Given the description of an element on the screen output the (x, y) to click on. 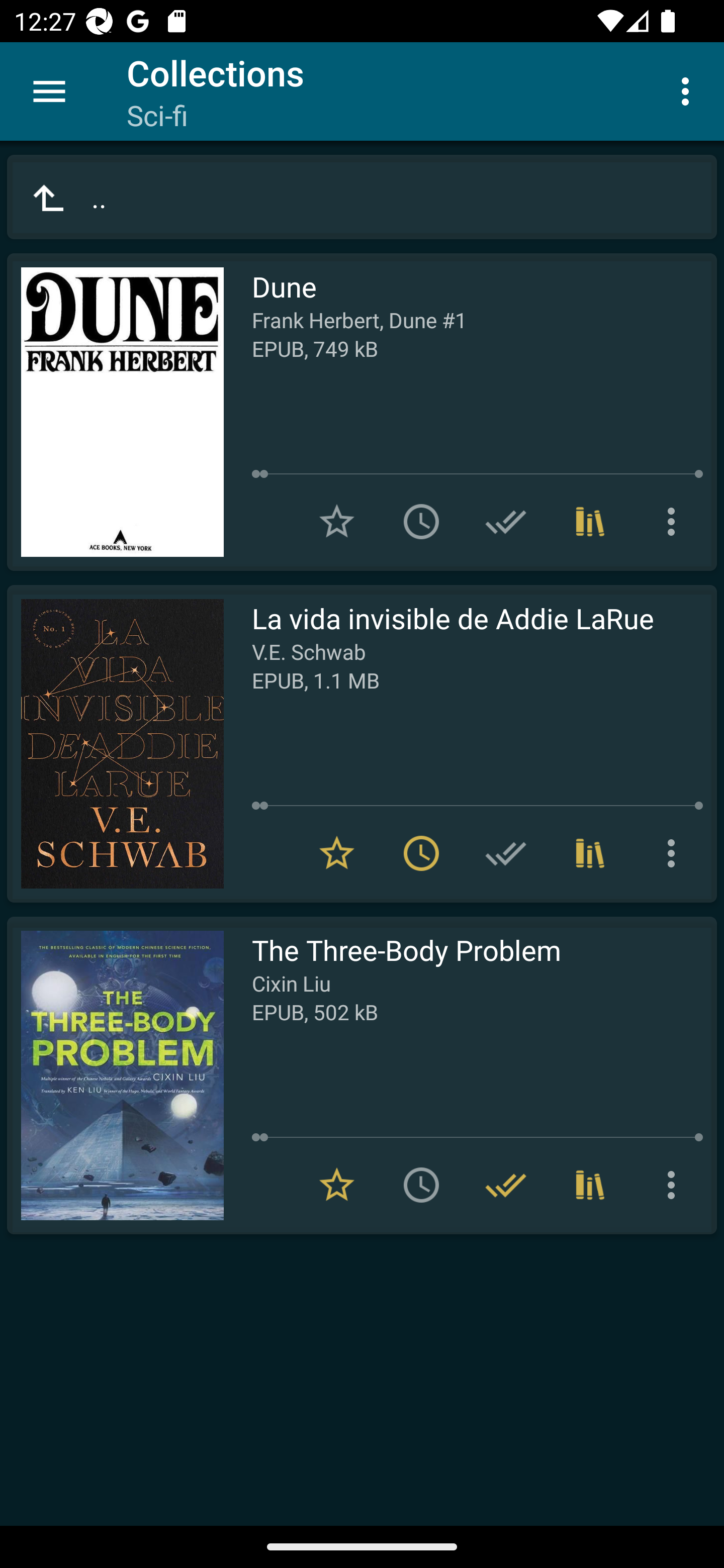
Menu (49, 91)
More options (688, 90)
.. (361, 197)
Read Dune (115, 412)
Add to Favorites (336, 521)
Add to To read (421, 521)
Add to Have read (505, 521)
Collections (1) (590, 521)
More options (674, 521)
Read La vida invisible de Addie LaRue (115, 743)
Remove from Favorites (336, 852)
Remove from To read (421, 852)
Add to Have read (505, 852)
Collections (1) (590, 852)
More options (674, 852)
Read The Three-Body Problem (115, 1075)
Remove from Favorites (336, 1185)
Add to To read (421, 1185)
Remove from Have read (505, 1185)
Collections (1) (590, 1185)
More options (674, 1185)
